Given the description of an element on the screen output the (x, y) to click on. 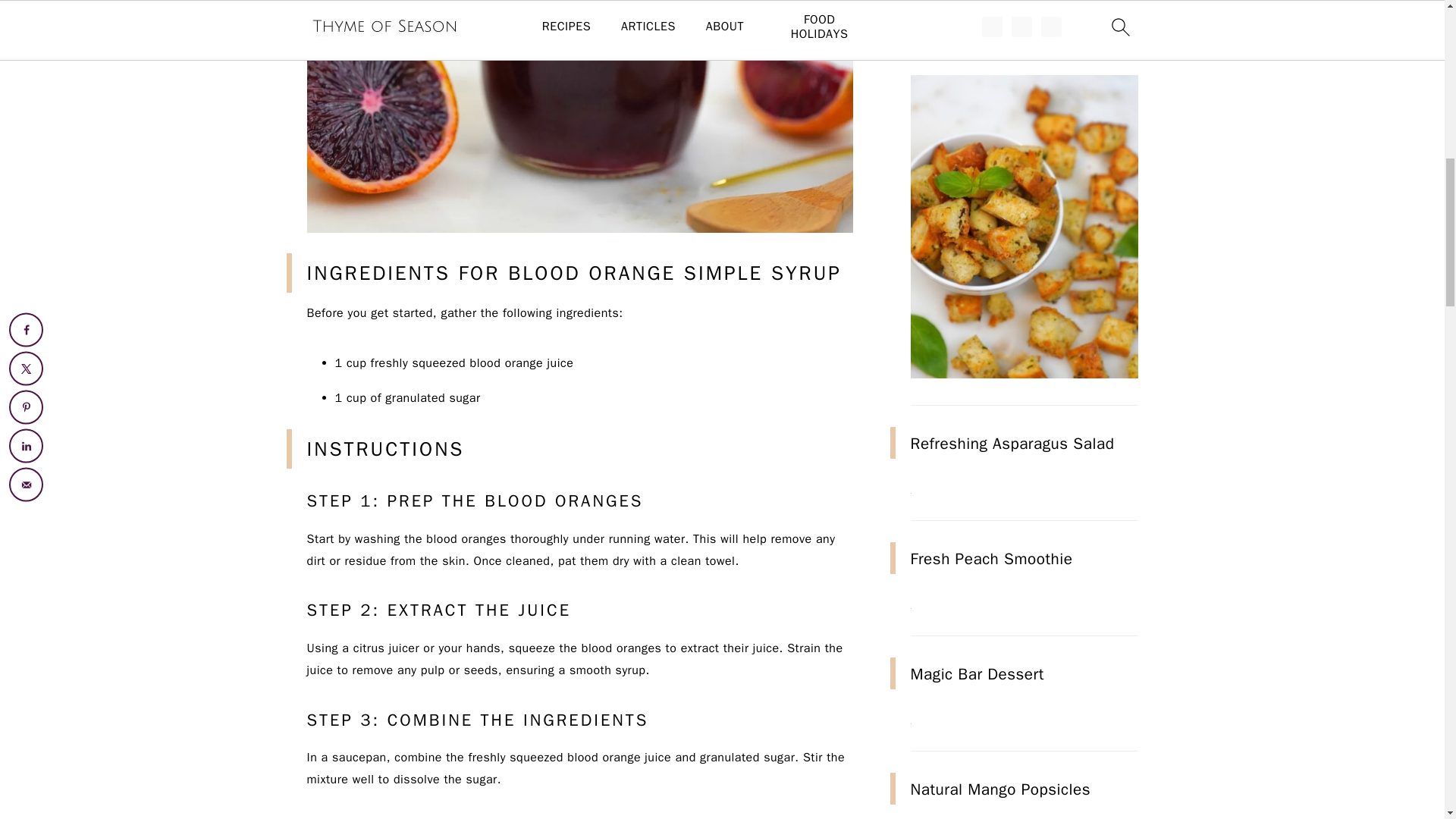
Parmesan Basil Croutons (1023, 374)
